Given the description of an element on the screen output the (x, y) to click on. 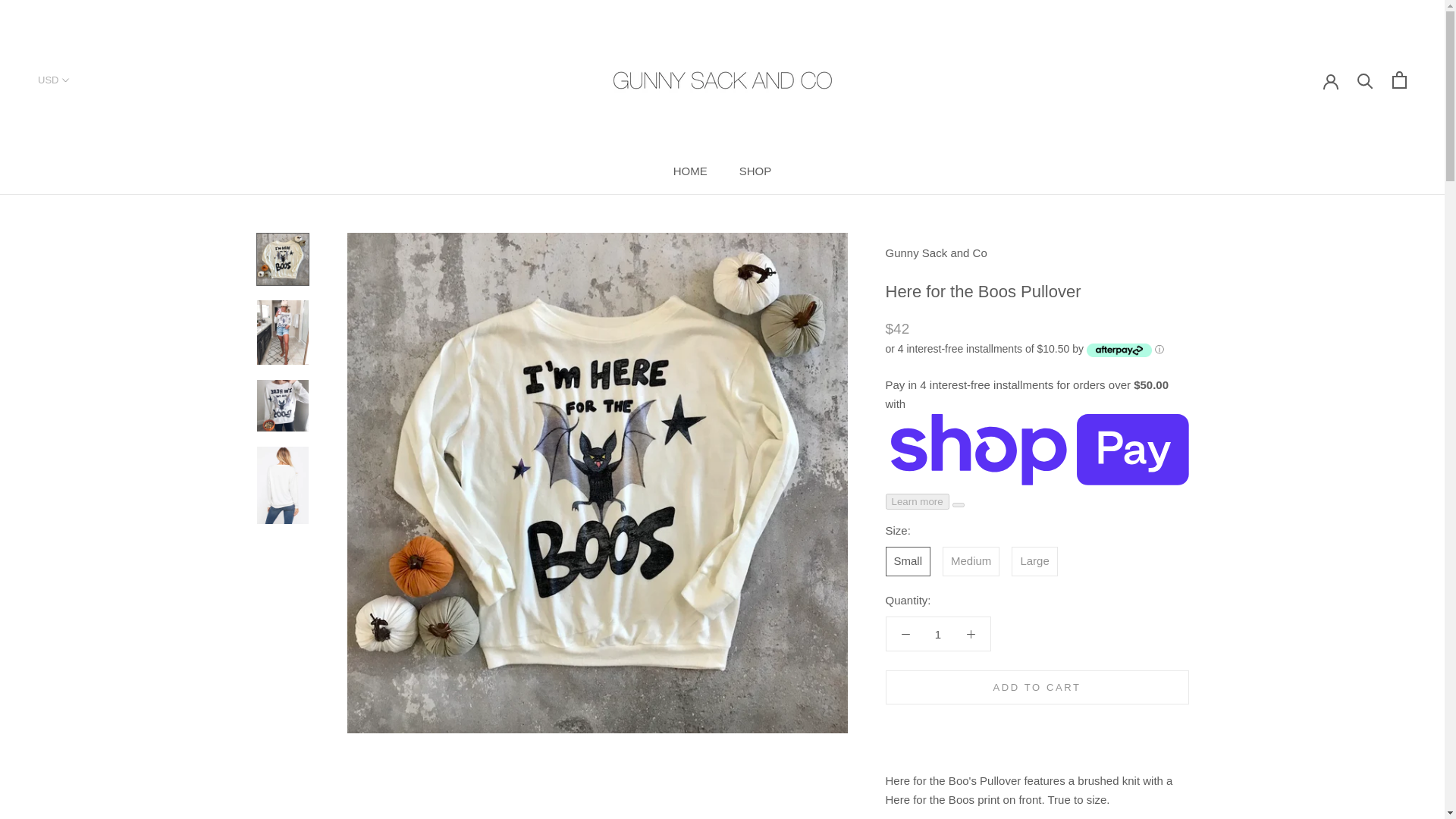
Currency selector (53, 79)
SHOP (689, 170)
1 (755, 170)
